Given the description of an element on the screen output the (x, y) to click on. 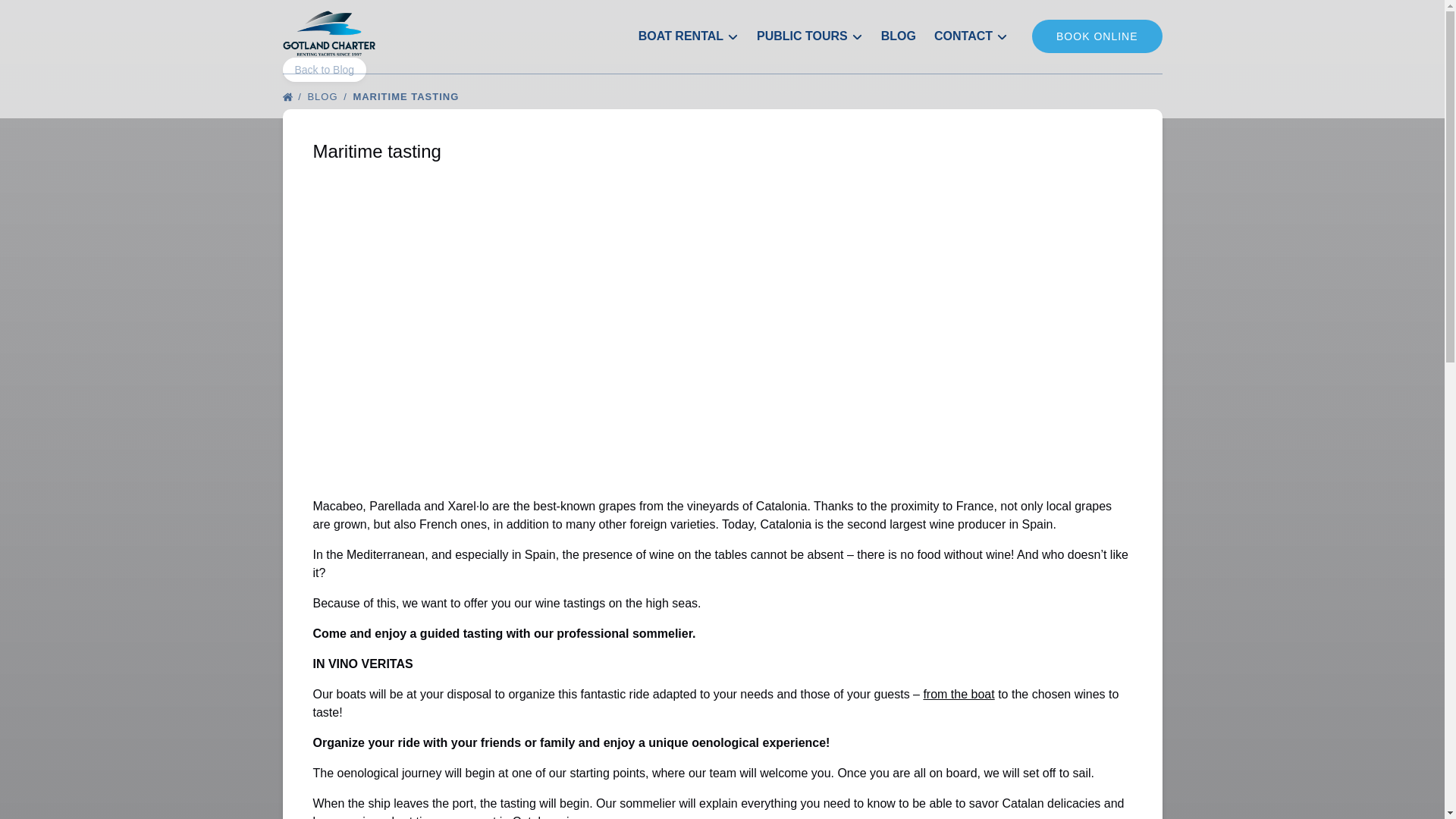
Open Contact Menu (974, 32)
PUBLIC TOURS (810, 35)
Skip to primary navigation (77, 16)
Back to Blog (324, 69)
BOAT RENTAL (688, 35)
Skip to content (47, 16)
MARITIME TASTING (409, 96)
Open BOAT RENTAL Menu (692, 32)
BOOK ONLINE (1096, 36)
CONTACT (970, 35)
Open Public Tours Menu (810, 26)
BLOG (898, 35)
BLOG (328, 96)
from the boat (958, 694)
Skip to footer (42, 16)
